Given the description of an element on the screen output the (x, y) to click on. 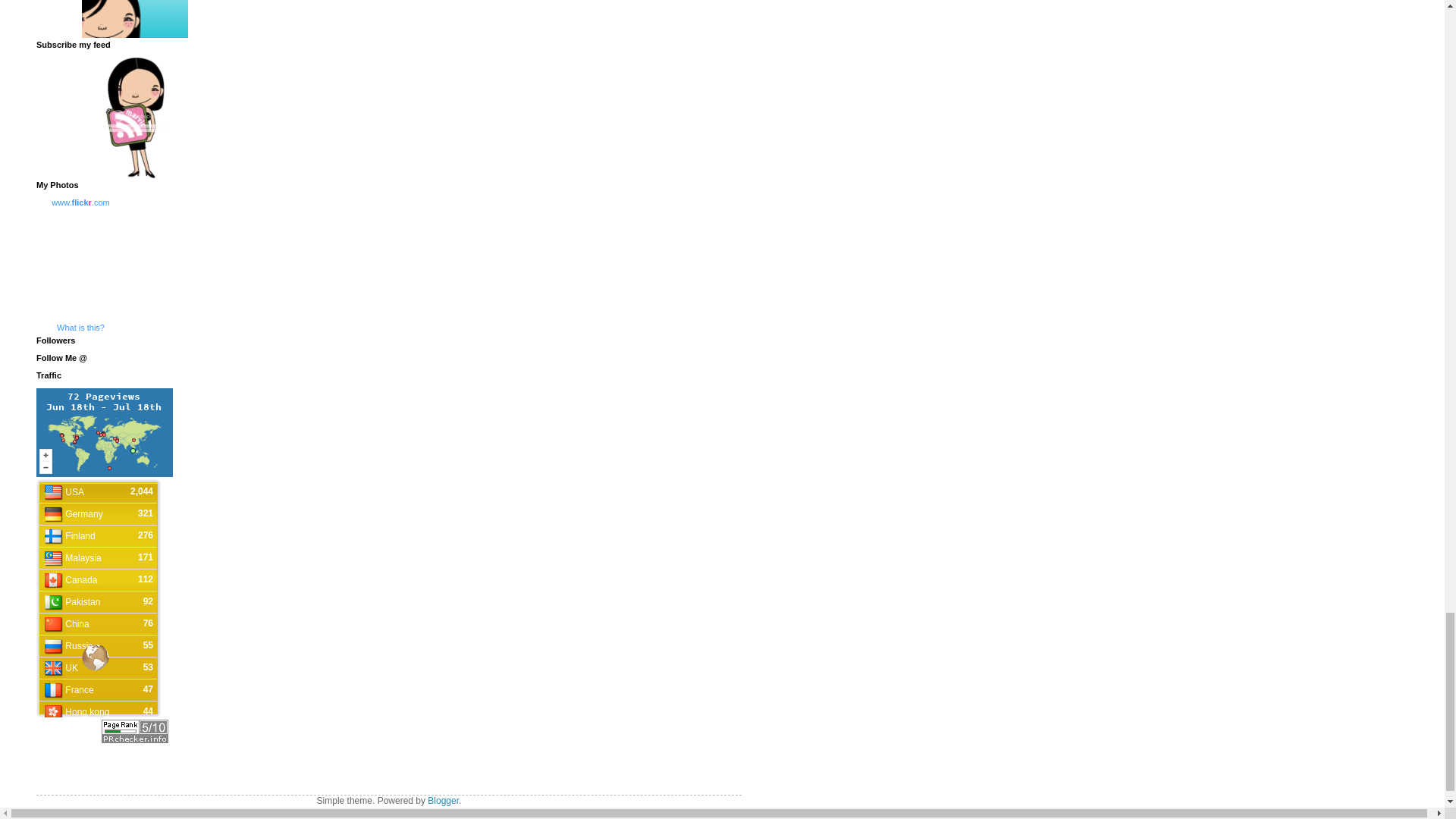
Locations of visitors to this page (104, 432)
Free PageRank Checker (134, 739)
Flickr Badge (80, 264)
